Given the description of an element on the screen output the (x, y) to click on. 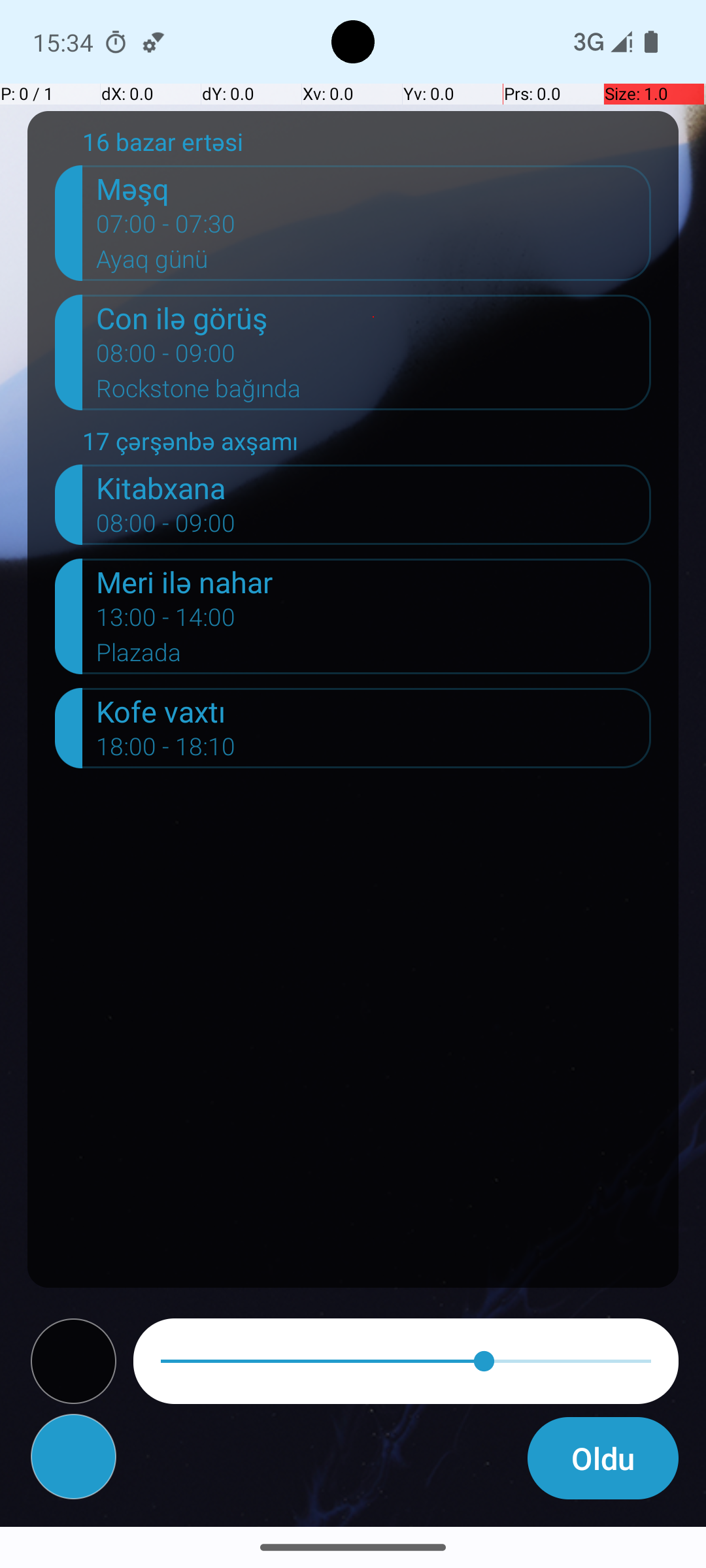
Oldu Element type: android.widget.Button (602, 1458)
16 bazar ertəsi Element type: android.widget.TextView (366, 144)
17 çərşənbə axşamı Element type: android.widget.TextView (366, 444)
Məşq Element type: android.widget.TextView (373, 187)
07:00 - 07:30 Element type: android.widget.TextView (165, 227)
Ayaq günü Element type: android.widget.TextView (373, 262)
Con ilə görüş Element type: android.widget.TextView (373, 316)
08:00 - 09:00 Element type: android.widget.TextView (165, 357)
Rockstone bağında Element type: android.widget.TextView (373, 392)
Kitabxana Element type: android.widget.TextView (373, 486)
Meri ilə nahar Element type: android.widget.TextView (373, 580)
13:00 - 14:00 Element type: android.widget.TextView (165, 620)
Plazada Element type: android.widget.TextView (373, 656)
Kofe vaxtı Element type: android.widget.TextView (373, 710)
18:00 - 18:10 Element type: android.widget.TextView (165, 750)
